Given the description of an element on the screen output the (x, y) to click on. 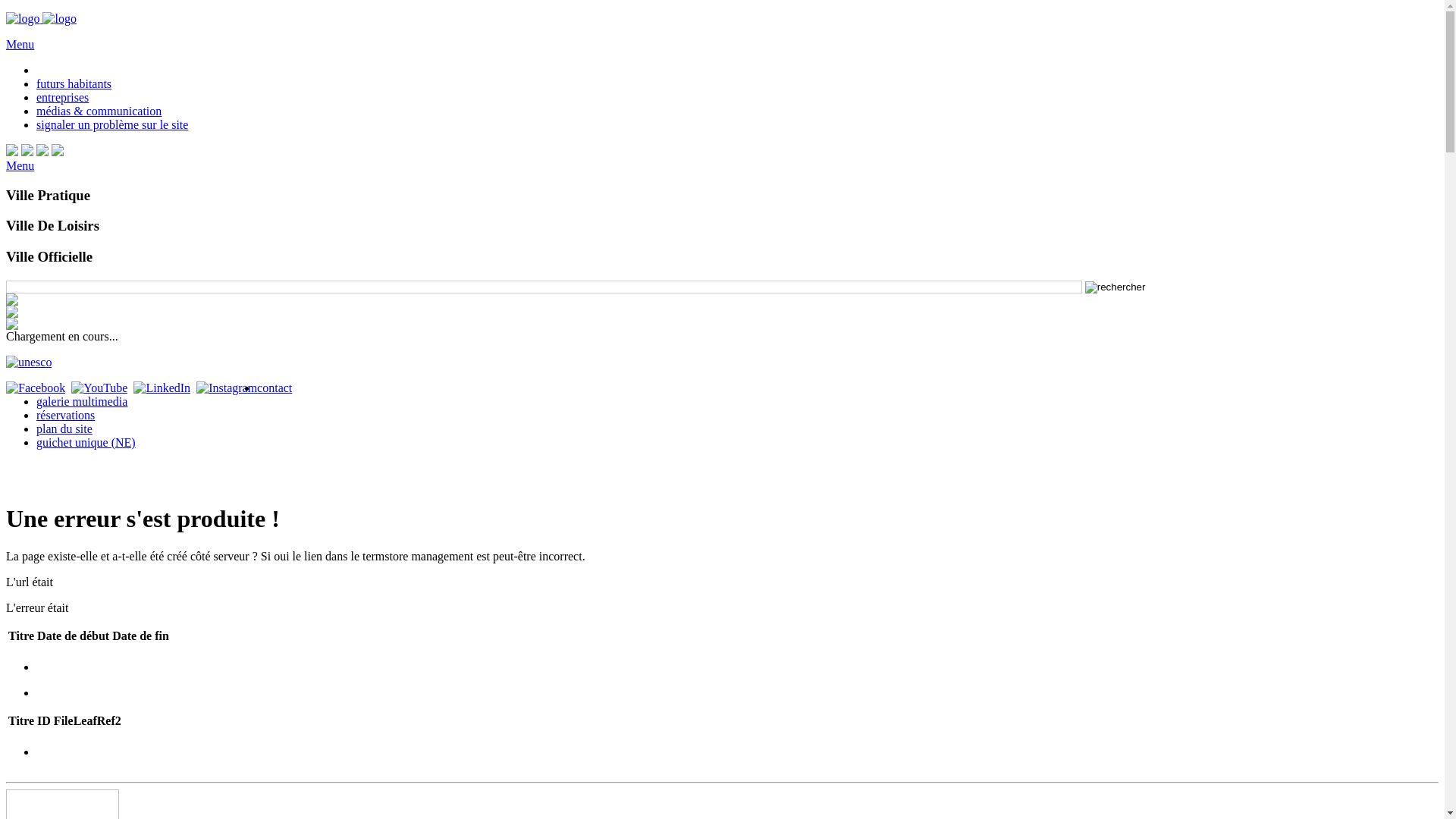
plan du site Element type: text (64, 428)
futurs habitants Element type: text (73, 83)
rechercher Element type: hover (1115, 287)
galerie multimedia Element type: text (81, 401)
rechercher Element type: hover (544, 286)
guichet unique (NE) Element type: text (85, 442)
contact Element type: text (274, 387)
entreprises Element type: text (62, 97)
Cliquer pour visiter le site de l'urbanisme horloger Element type: hover (28, 362)
Menu Element type: text (20, 43)
Menu Element type: text (20, 165)
